Given the description of an element on the screen output the (x, y) to click on. 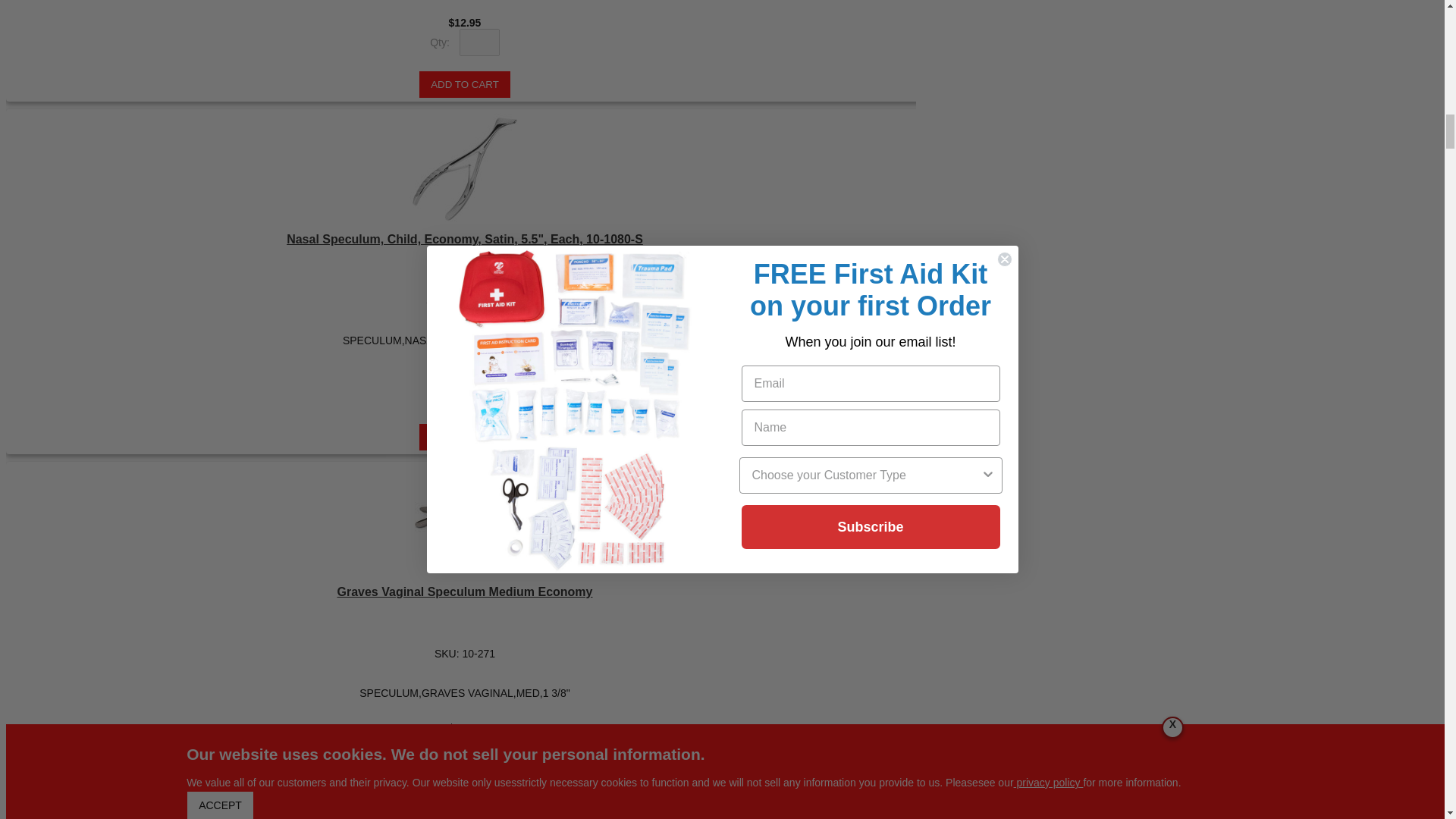
Add to cart (465, 789)
Add to cart (465, 437)
Add to cart (465, 84)
